Given the description of an element on the screen output the (x, y) to click on. 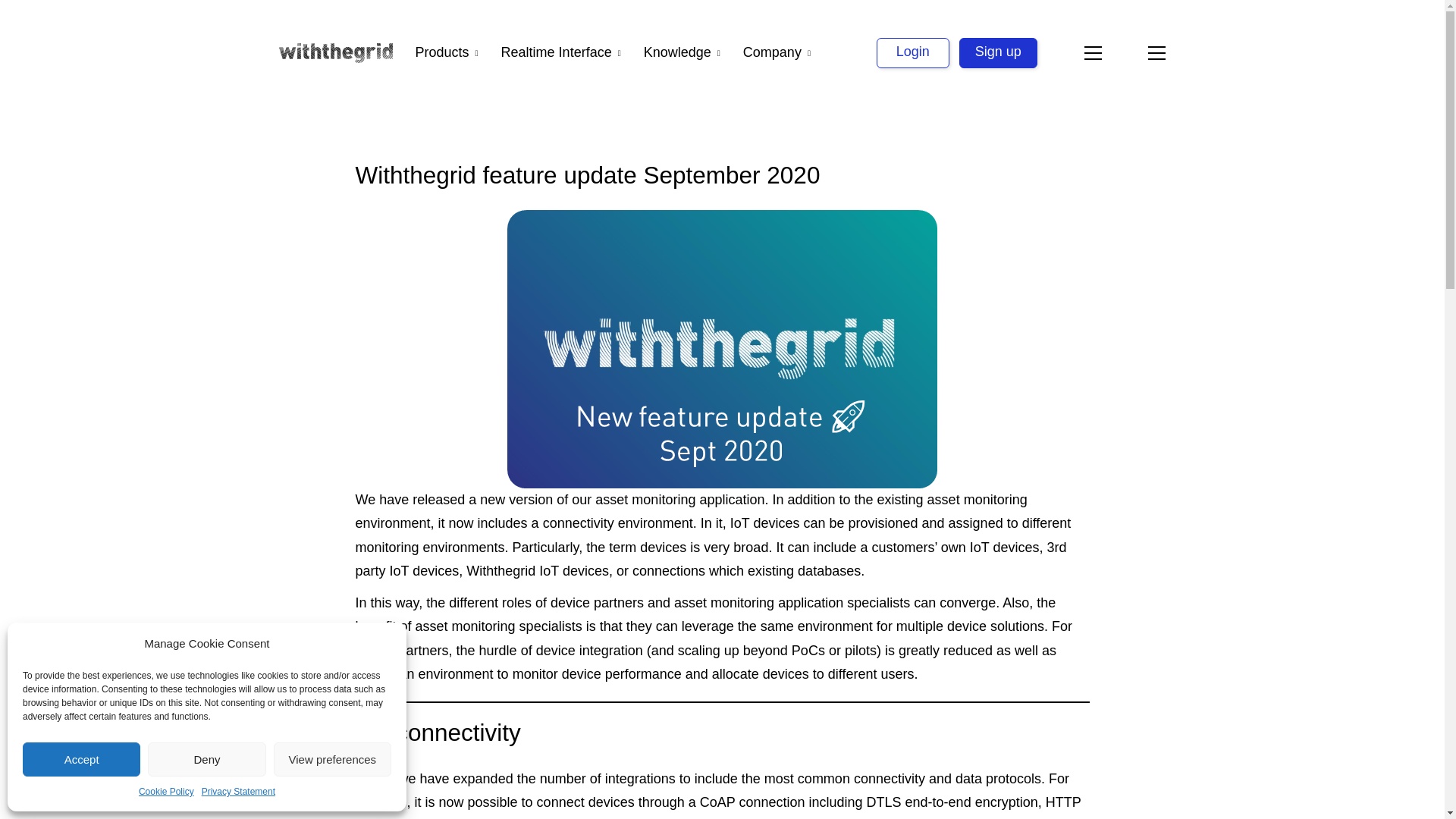
Privacy Statement (238, 791)
Accept (81, 759)
View preferences (332, 759)
Deny (206, 759)
Cookie Policy (165, 791)
